Given the description of an element on the screen output the (x, y) to click on. 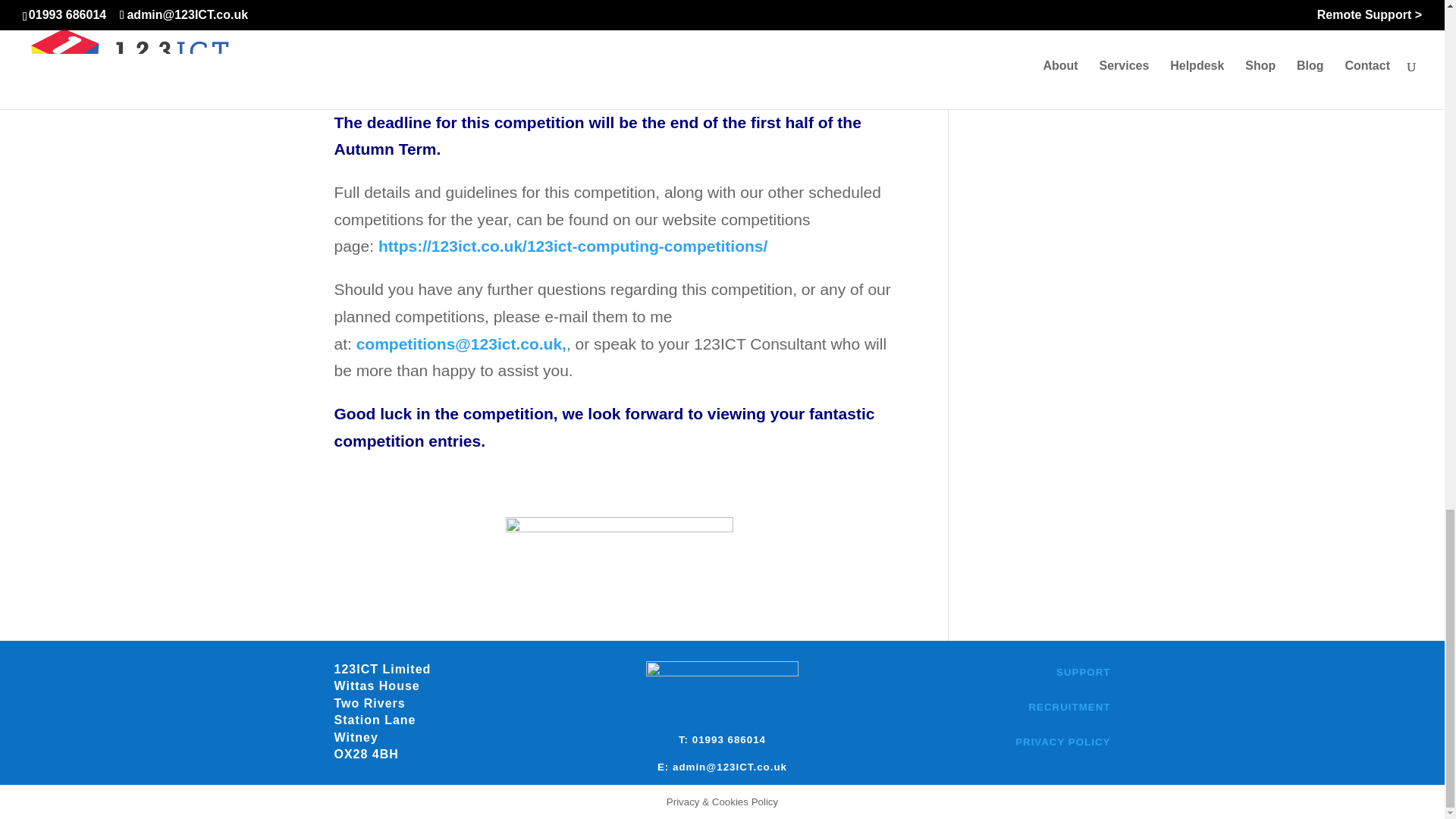
SUPPORT (1083, 672)
RECRUITMENT (1068, 706)
123ICT (619, 535)
PRIVACY POLICY (1061, 741)
